Given the description of an element on the screen output the (x, y) to click on. 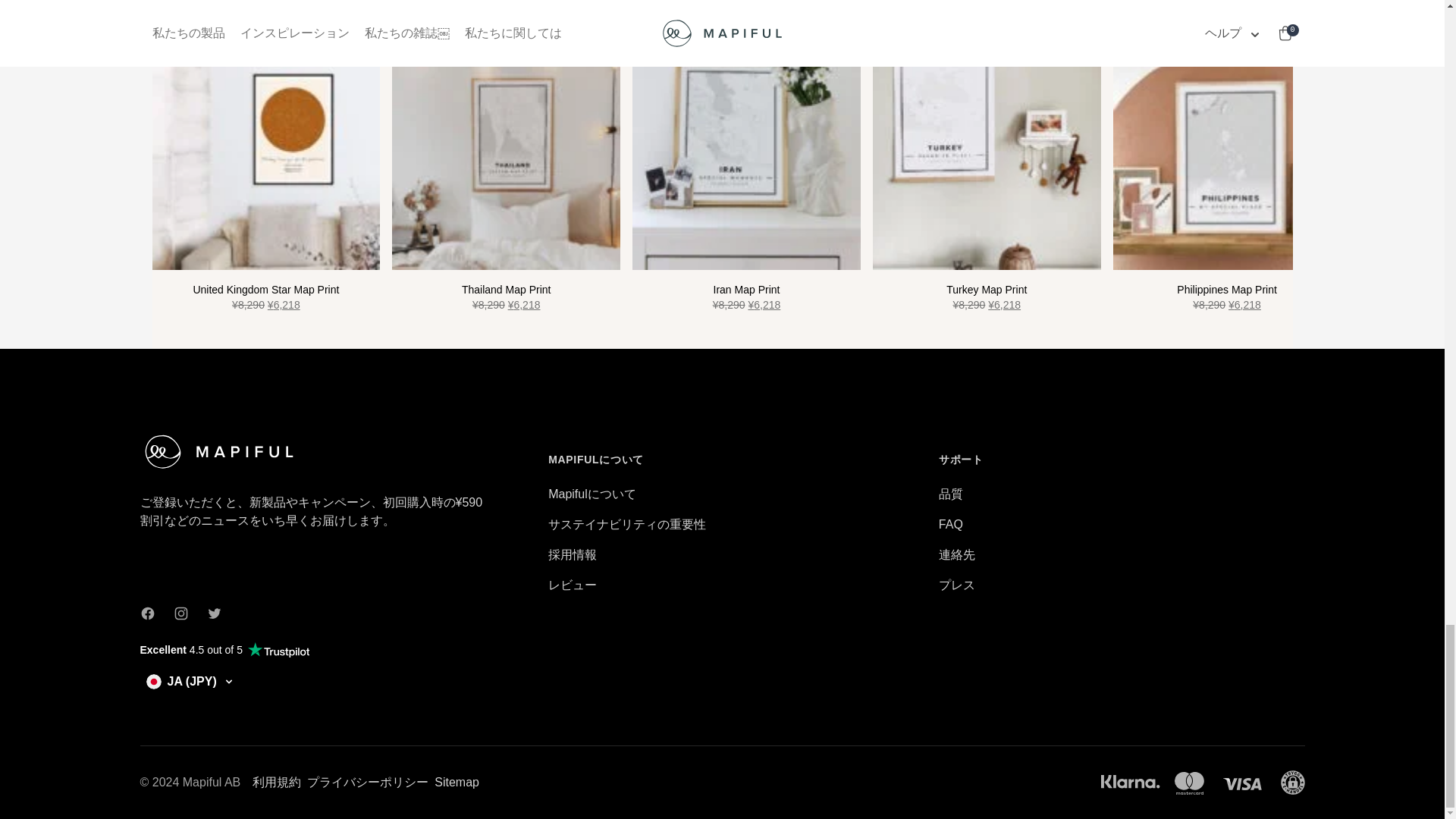
United Kingdom Star Map Print (265, 155)
Philippines Map Print (1226, 155)
Iran Map Print (745, 297)
Turkey Map Print (986, 297)
Thailand Map Print (505, 297)
Philippines Map Print (1226, 297)
Turkey Map Print (986, 155)
United Kingdom Star Map Print (265, 297)
Iran Map Print (745, 155)
Thailand Map Print (505, 155)
